Given the description of an element on the screen output the (x, y) to click on. 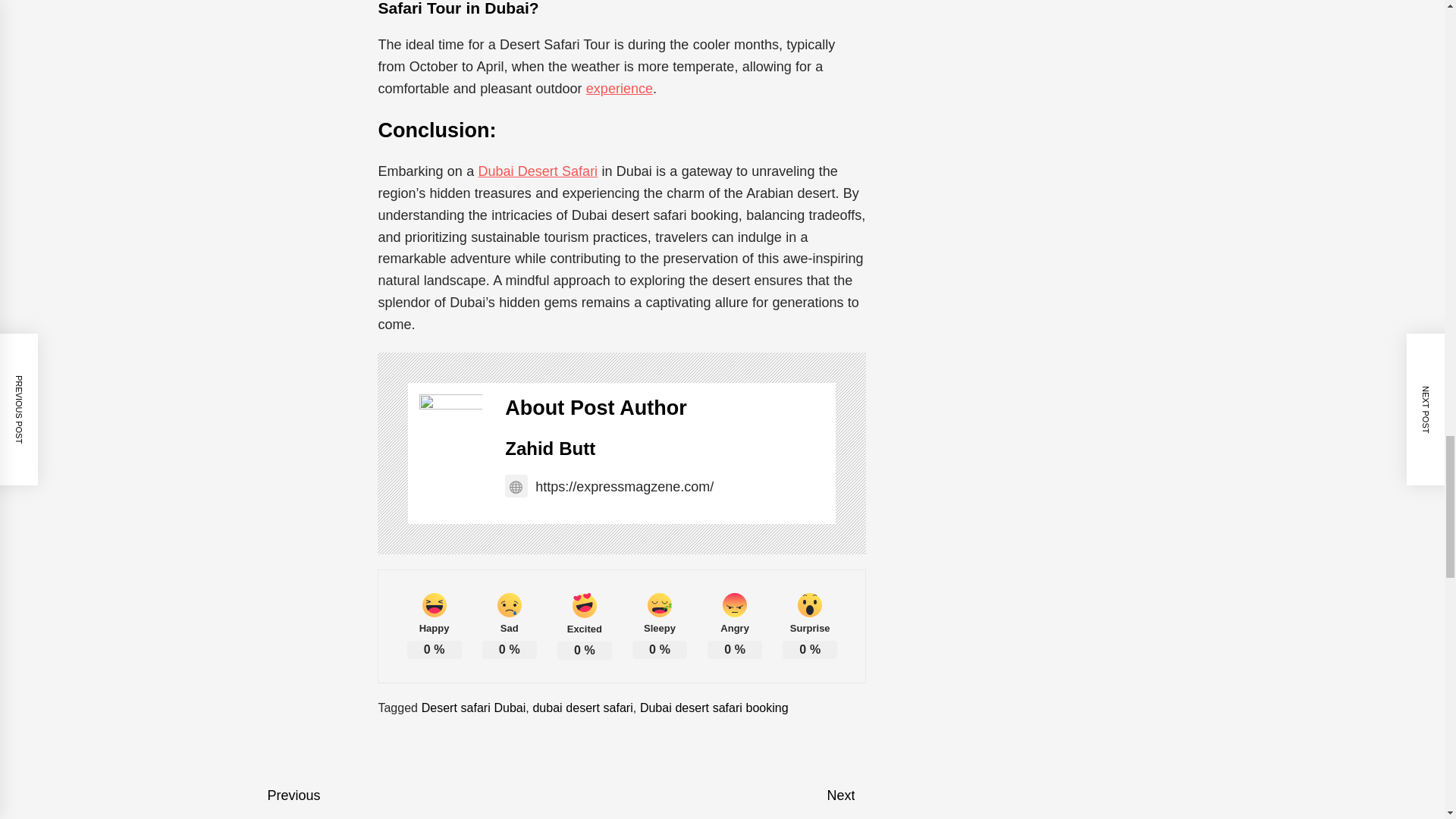
Desert safari Dubai (473, 707)
Dubai Desert Safari (536, 171)
Zahid Butt (550, 448)
experience (619, 88)
dubai desert safari (581, 707)
